Given the description of an element on the screen output the (x, y) to click on. 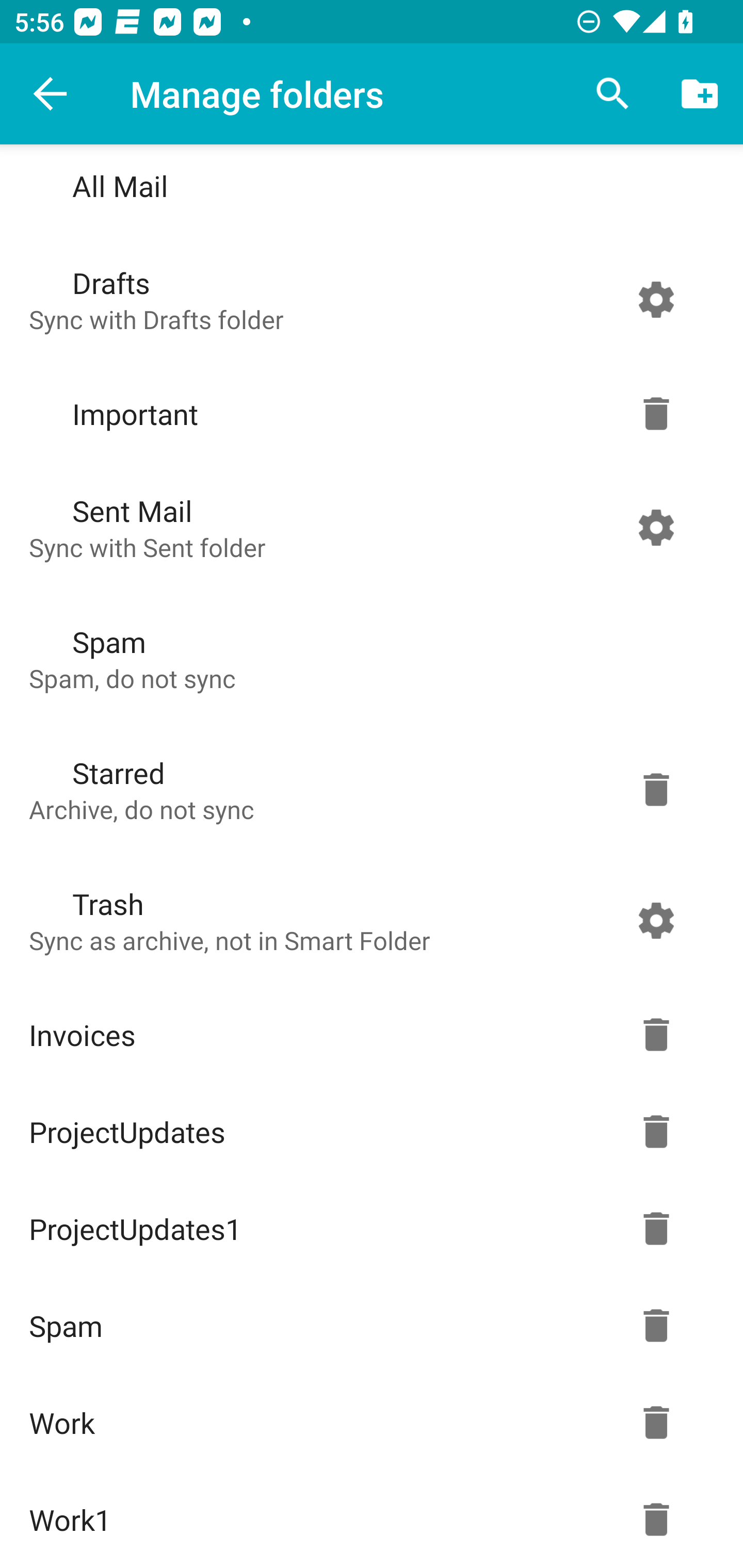
Navigate up (50, 93)
Search folders (612, 93)
Create folder (699, 93)
All Mail (367, 188)
Drafts Sync with Drafts folder Folder settings (367, 299)
Folder settings (655, 299)
Important Folder settings (367, 413)
Folder settings (655, 413)
Sent Mail Sync with Sent folder Folder settings (367, 527)
Folder settings (655, 527)
Spam Spam, do not sync (367, 658)
Starred Archive, do not sync Folder settings (367, 789)
Folder settings (655, 789)
Folder settings (655, 920)
Invoices Folder settings (367, 1034)
Folder settings (655, 1034)
ProjectUpdates Folder settings (367, 1131)
Folder settings (655, 1131)
ProjectUpdates1 Folder settings (367, 1228)
Folder settings (655, 1228)
Spam Folder settings (367, 1324)
Folder settings (655, 1324)
Work Folder settings (367, 1421)
Folder settings (655, 1421)
Work1 Folder settings (367, 1519)
Folder settings (655, 1519)
